Given the description of an element on the screen output the (x, y) to click on. 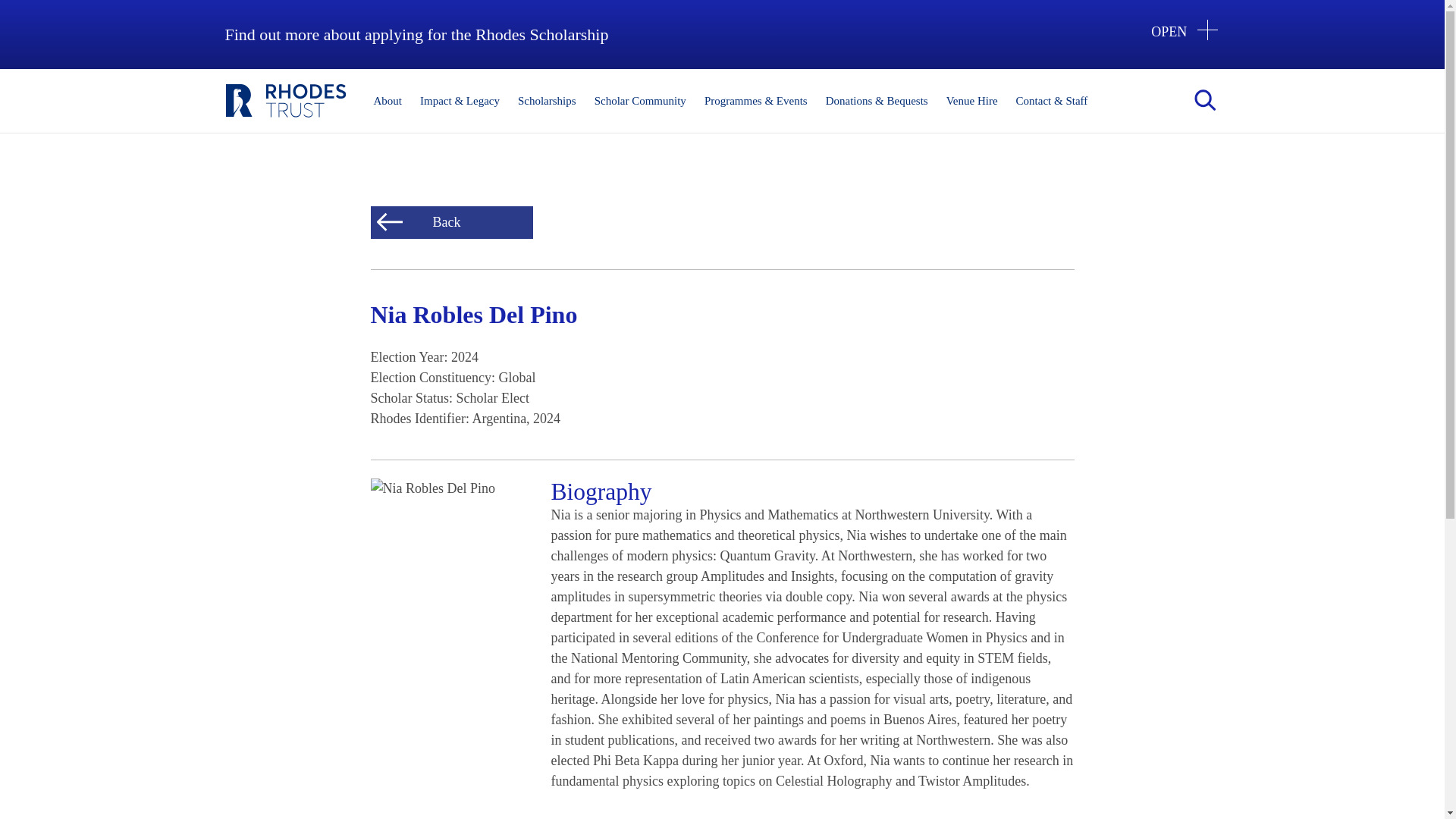
Scholarships (546, 100)
Back (450, 222)
